Given the description of an element on the screen output the (x, y) to click on. 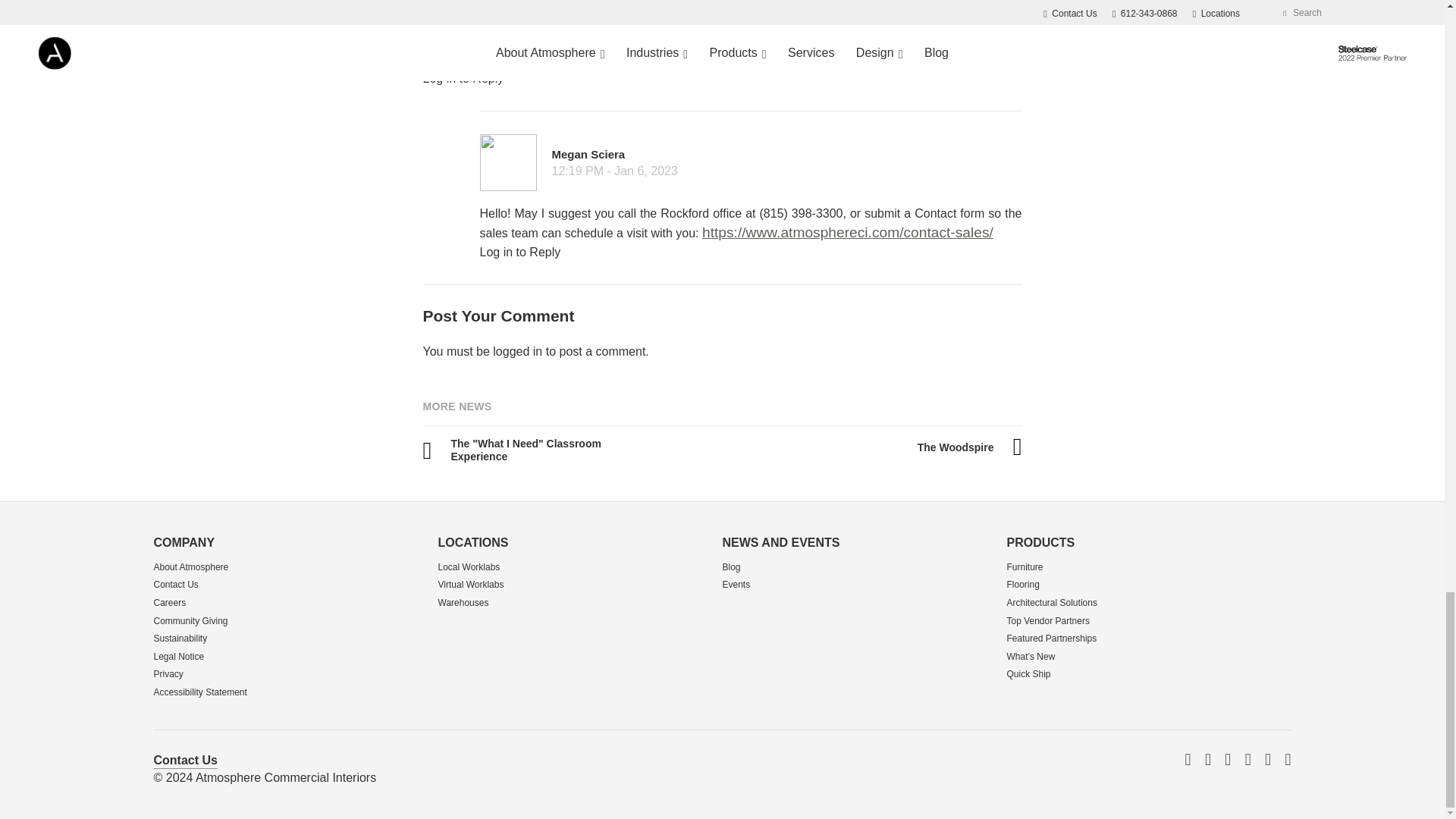
Log in to Reply (519, 251)
Log in to Reply (463, 78)
logged in (517, 350)
